Given the description of an element on the screen output the (x, y) to click on. 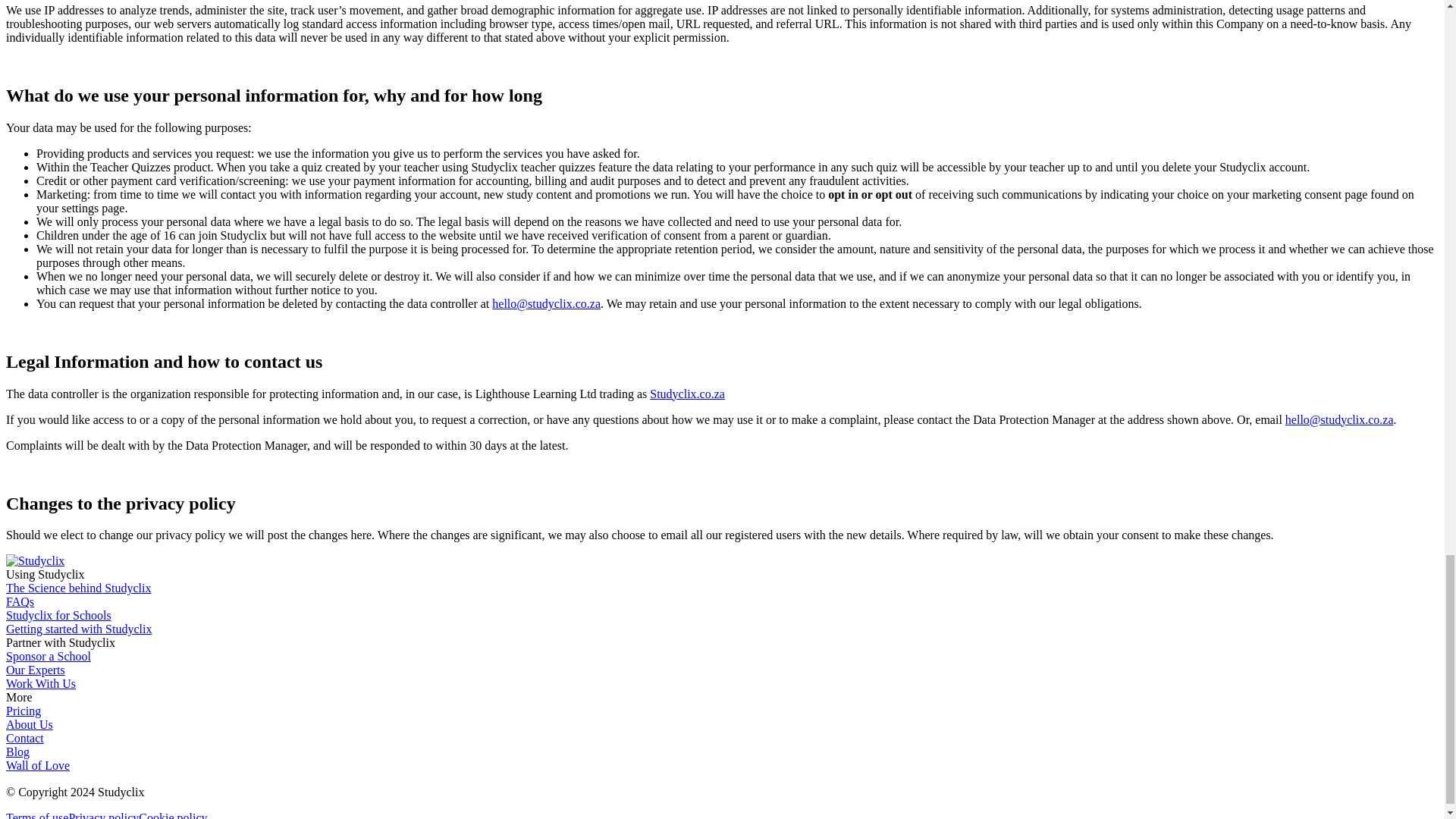
FAQs (19, 601)
The Science behind Studyclix (78, 587)
Wall of Love (37, 765)
About Us (28, 724)
Studyclix.co.za (687, 393)
Getting started with Studyclix (78, 628)
Pricing (22, 710)
Studyclix for Schools (58, 615)
Our Experts (35, 669)
Blog (17, 751)
Sponsor a School (47, 656)
Work With Us (40, 683)
Contact (24, 738)
